Given the description of an element on the screen output the (x, y) to click on. 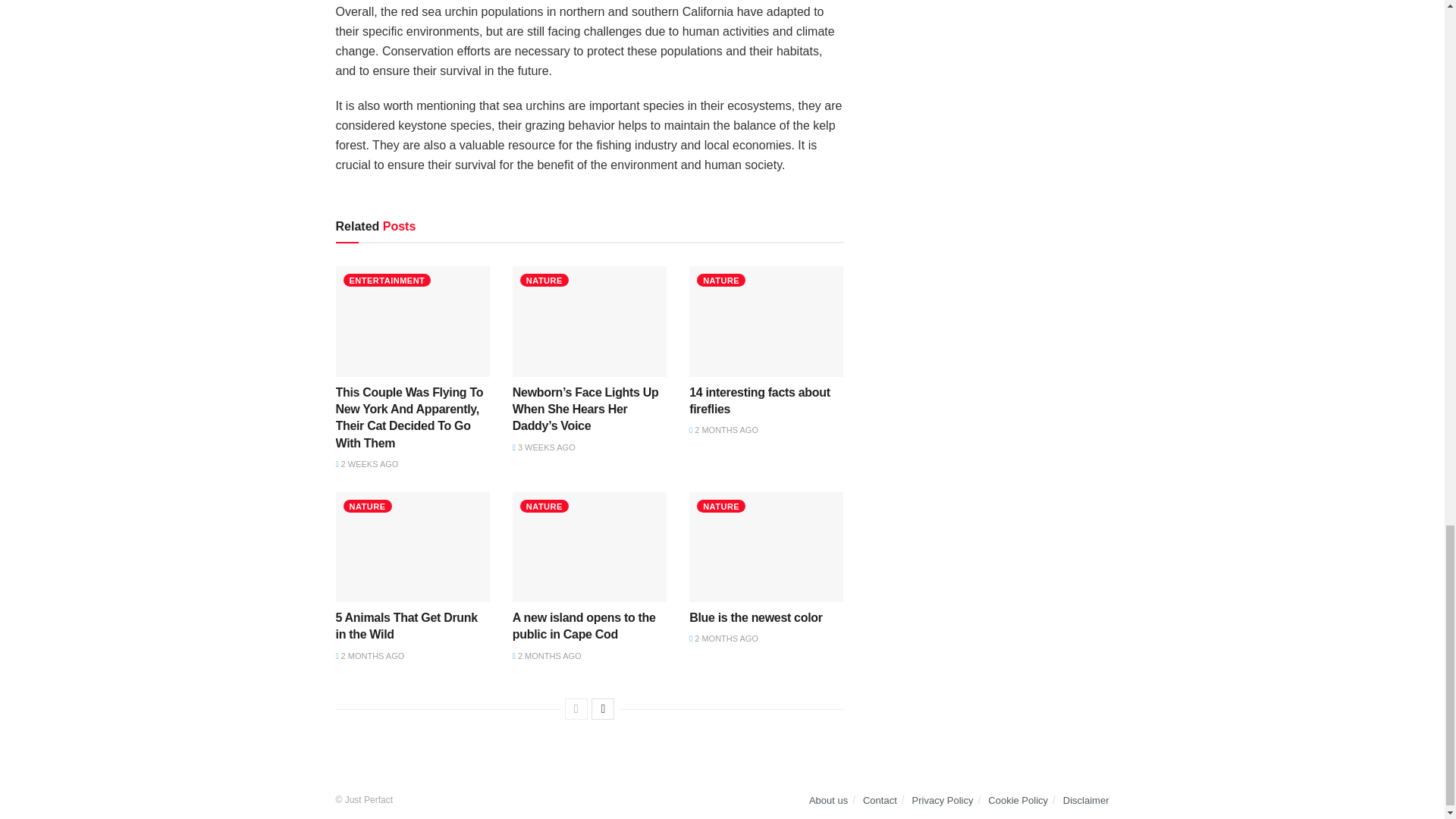
NATURE (721, 505)
2 MONTHS AGO (369, 655)
2 MONTHS AGO (546, 655)
14 interesting facts about fireflies (758, 400)
Blue is the newest color (755, 617)
NATURE (544, 279)
NATURE (544, 505)
NATURE (366, 505)
Next (602, 708)
